Given the description of an element on the screen output the (x, y) to click on. 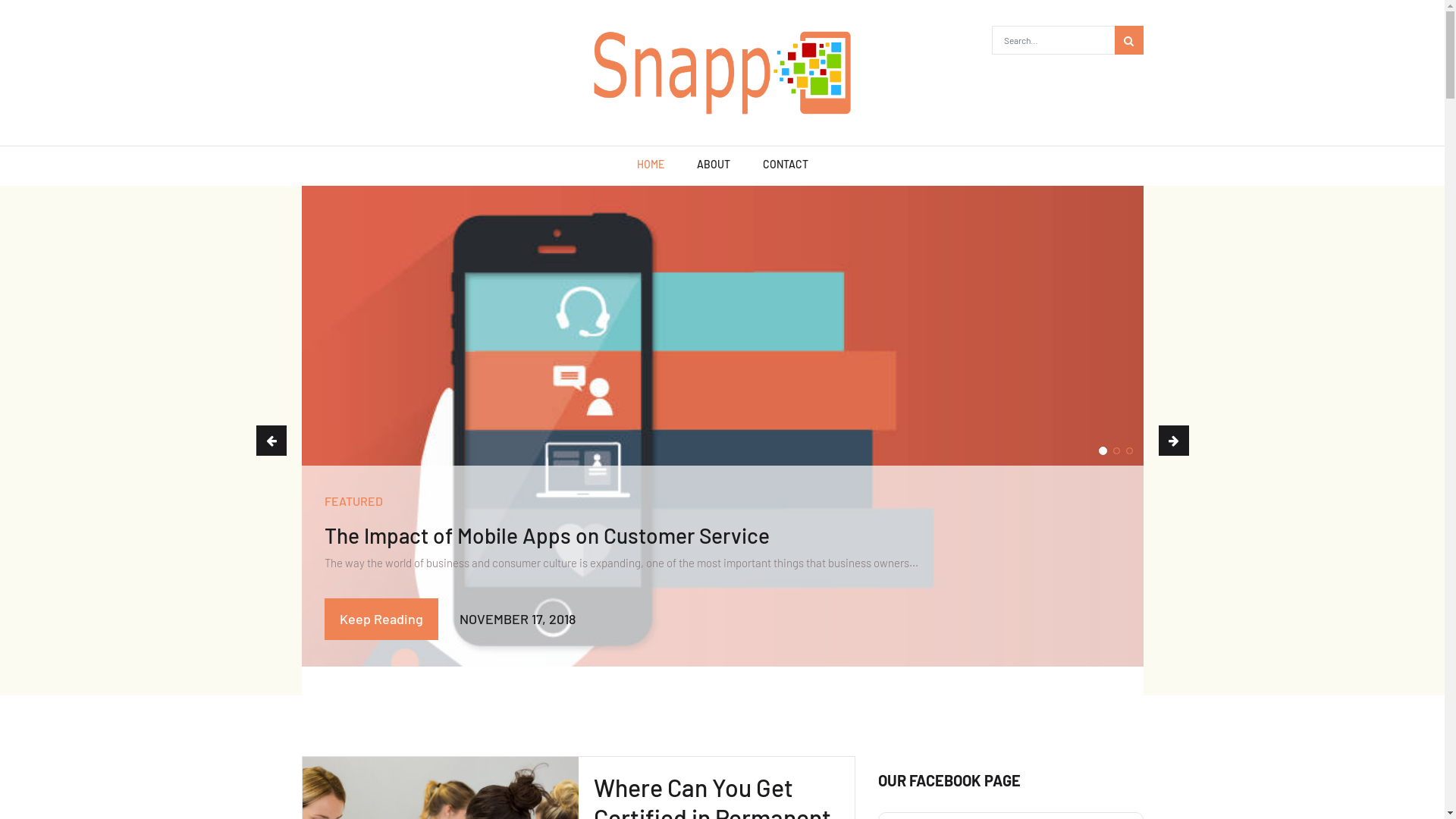
ABOUT Element type: text (712, 165)
Keep Reading Element type: text (381, 619)
HOME Element type: text (650, 165)
1 Element type: text (1102, 450)
3 Element type: text (1128, 450)
FEATURED Element type: text (353, 500)
The Impact of Mobile Apps on Customer Service Element type: text (546, 535)
2 Element type: text (1116, 450)
CONTACT Element type: text (785, 165)
